Given the description of an element on the screen output the (x, y) to click on. 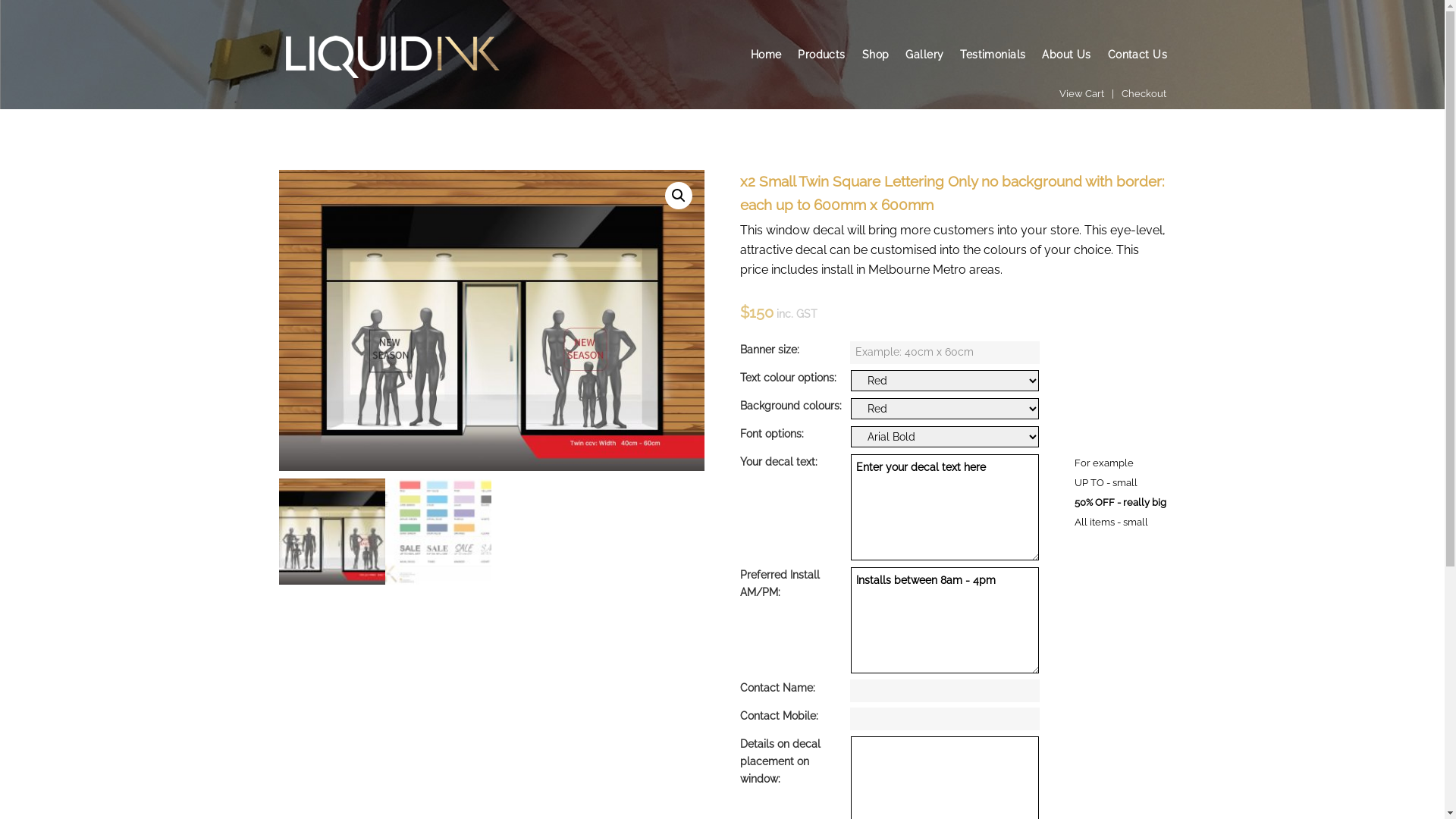
About Us Element type: text (1065, 53)
Testimonials Element type: text (992, 53)
Contact Us Element type: text (1137, 53)
liquid ink window shop_Page_15 Element type: hover (492, 319)
View Cart Element type: text (1080, 93)
Gallery Element type: text (924, 53)
Shop Element type: text (875, 53)
Home Element type: text (765, 53)
Checkout Element type: text (1142, 93)
Products Element type: text (820, 53)
